Given the description of an element on the screen output the (x, y) to click on. 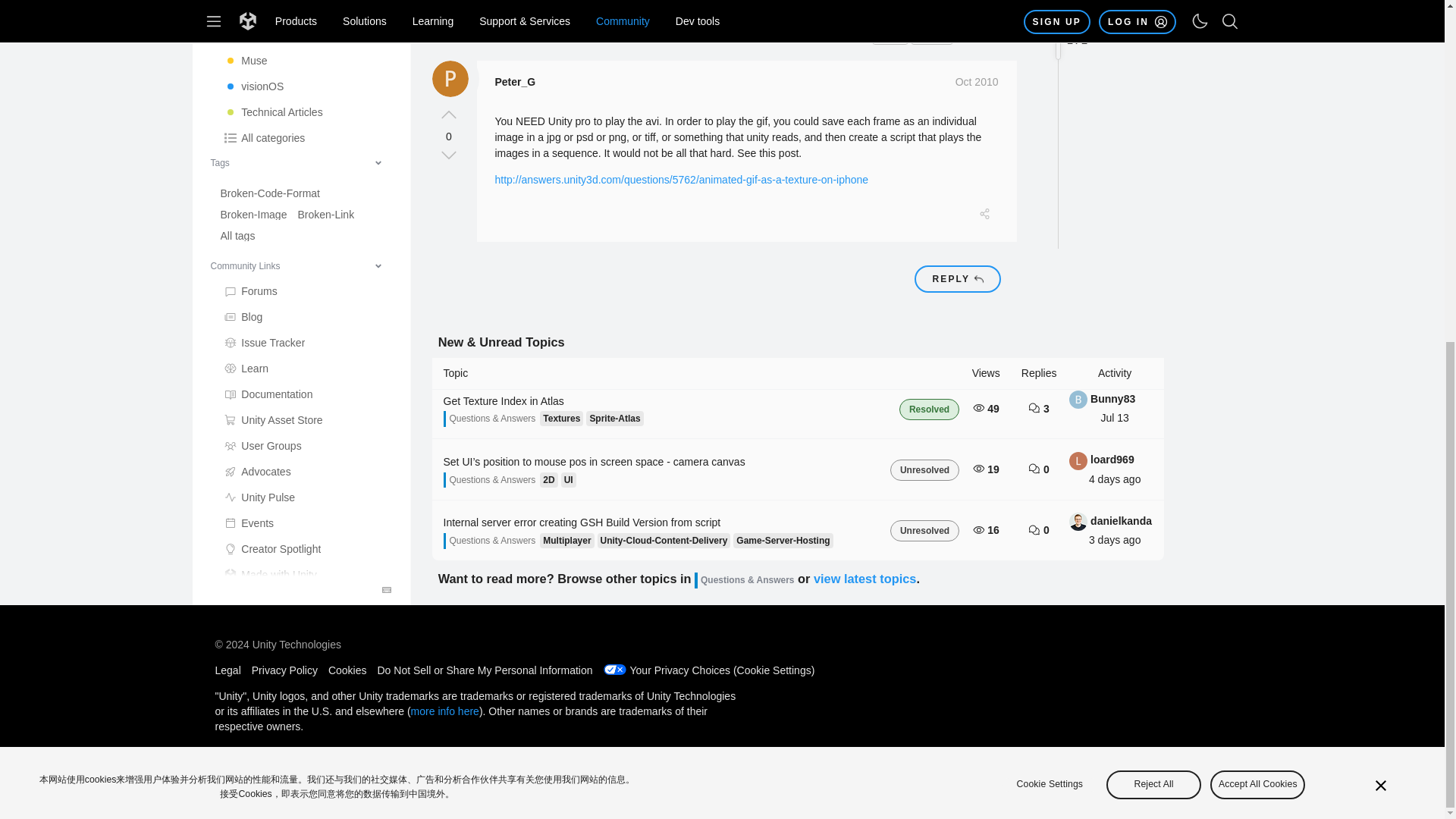
User Groups (306, 77)
Documentation (306, 26)
Unity Pulse (306, 129)
Creator Spotlight (306, 181)
YouTube (306, 284)
Twitch (306, 387)
Advocates (306, 103)
Unity Asset Store (306, 52)
Made with Unity (306, 207)
LinkedIn (306, 258)
Discord (306, 335)
Learn (306, 6)
Events (306, 155)
Instagram (306, 361)
Twitter (306, 309)
